Given the description of an element on the screen output the (x, y) to click on. 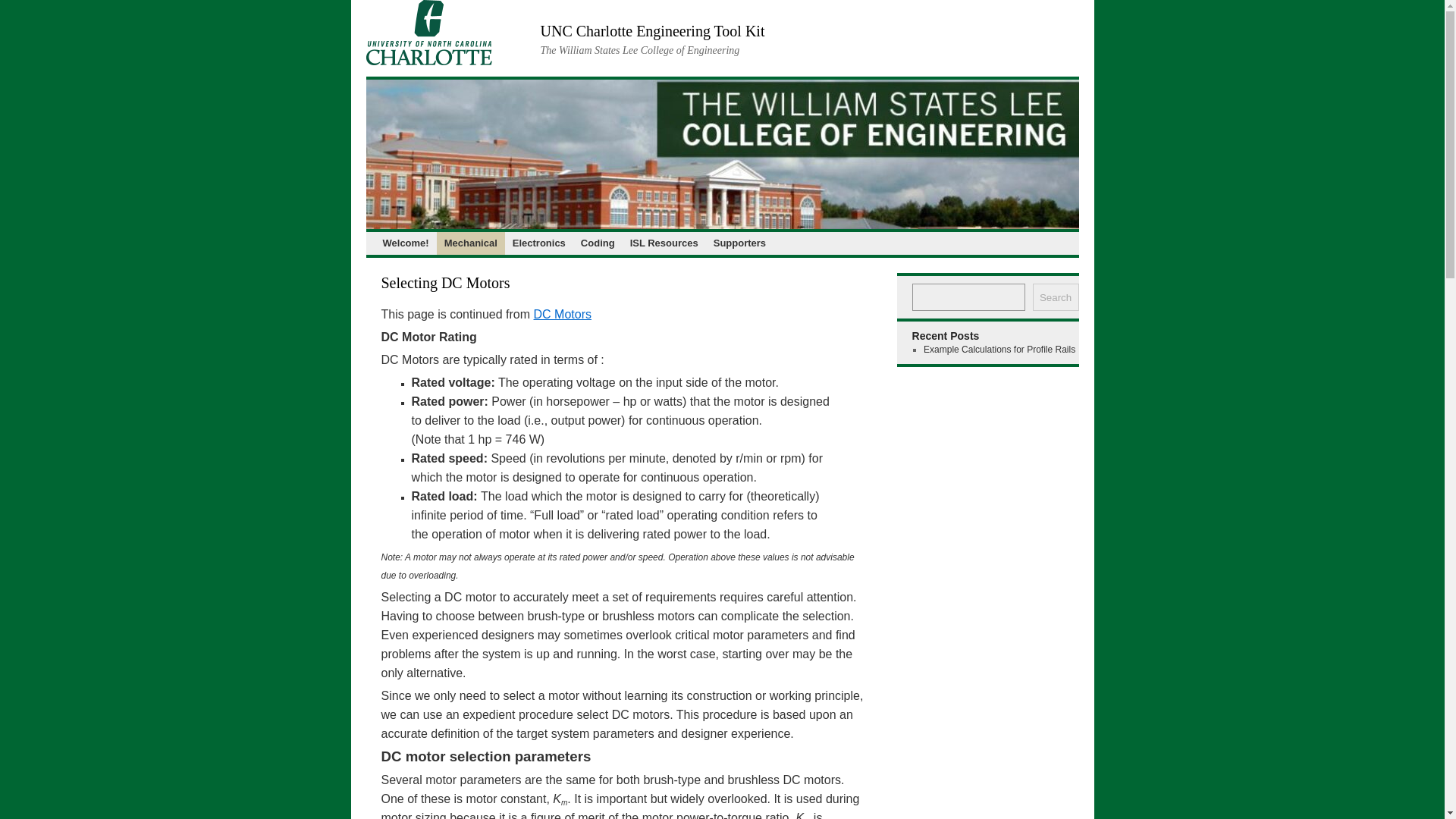
Welcome! (404, 242)
UNC Charlotte Engineering Tool Kit (652, 30)
Mechanical (470, 242)
